Given the description of an element on the screen output the (x, y) to click on. 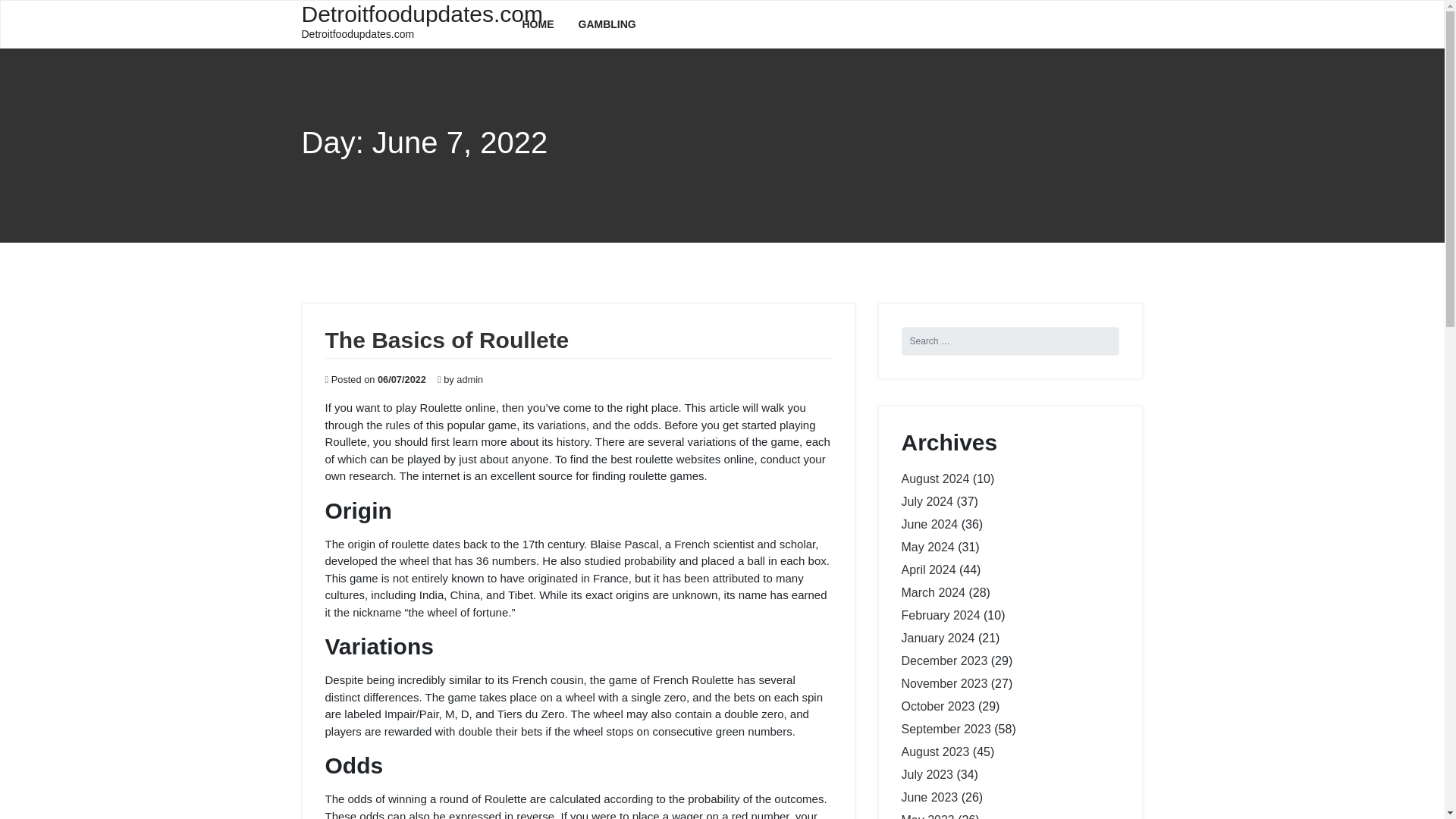
July 2023 (927, 774)
June 2023 (929, 797)
May 2023 (927, 816)
November 2023 (944, 683)
July 2024 (927, 501)
June 2024 (929, 523)
Home (537, 23)
February 2024 (940, 615)
The Basics of Roullete (446, 339)
August 2024 (935, 478)
Gambling (606, 23)
August 2023 (935, 751)
December 2023 (944, 660)
January 2024 (937, 637)
March 2024 (933, 592)
